Given the description of an element on the screen output the (x, y) to click on. 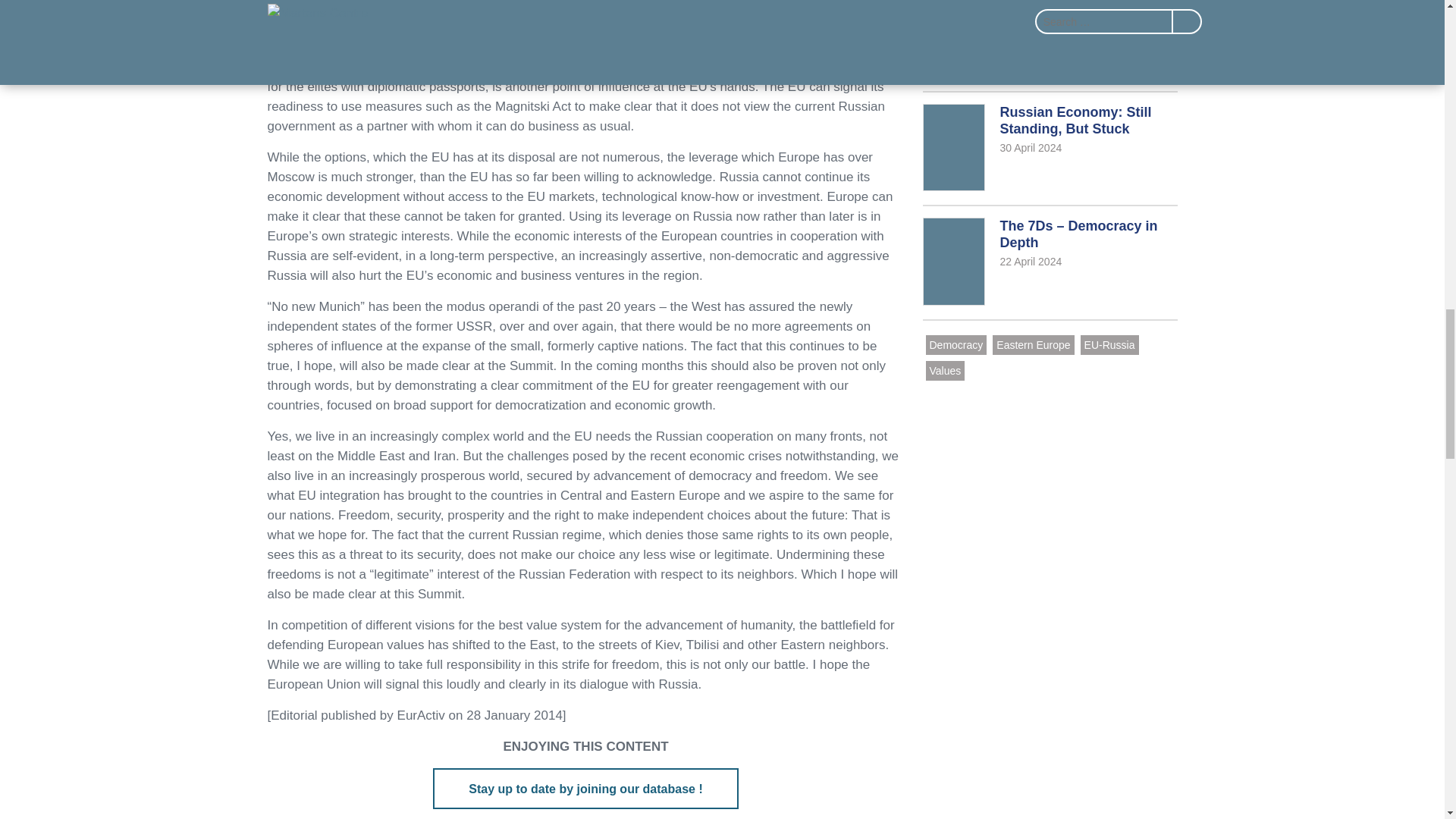
Values (943, 370)
Democracy (1048, 149)
Russian Economy: Still Standing, But Stuck (955, 344)
Stay up to date by joining our database ! (1048, 149)
Explaining the Rise of the Radical Right in Europe (585, 788)
EU-Russia (1048, 41)
Eastern Europe (1109, 344)
